Given the description of an element on the screen output the (x, y) to click on. 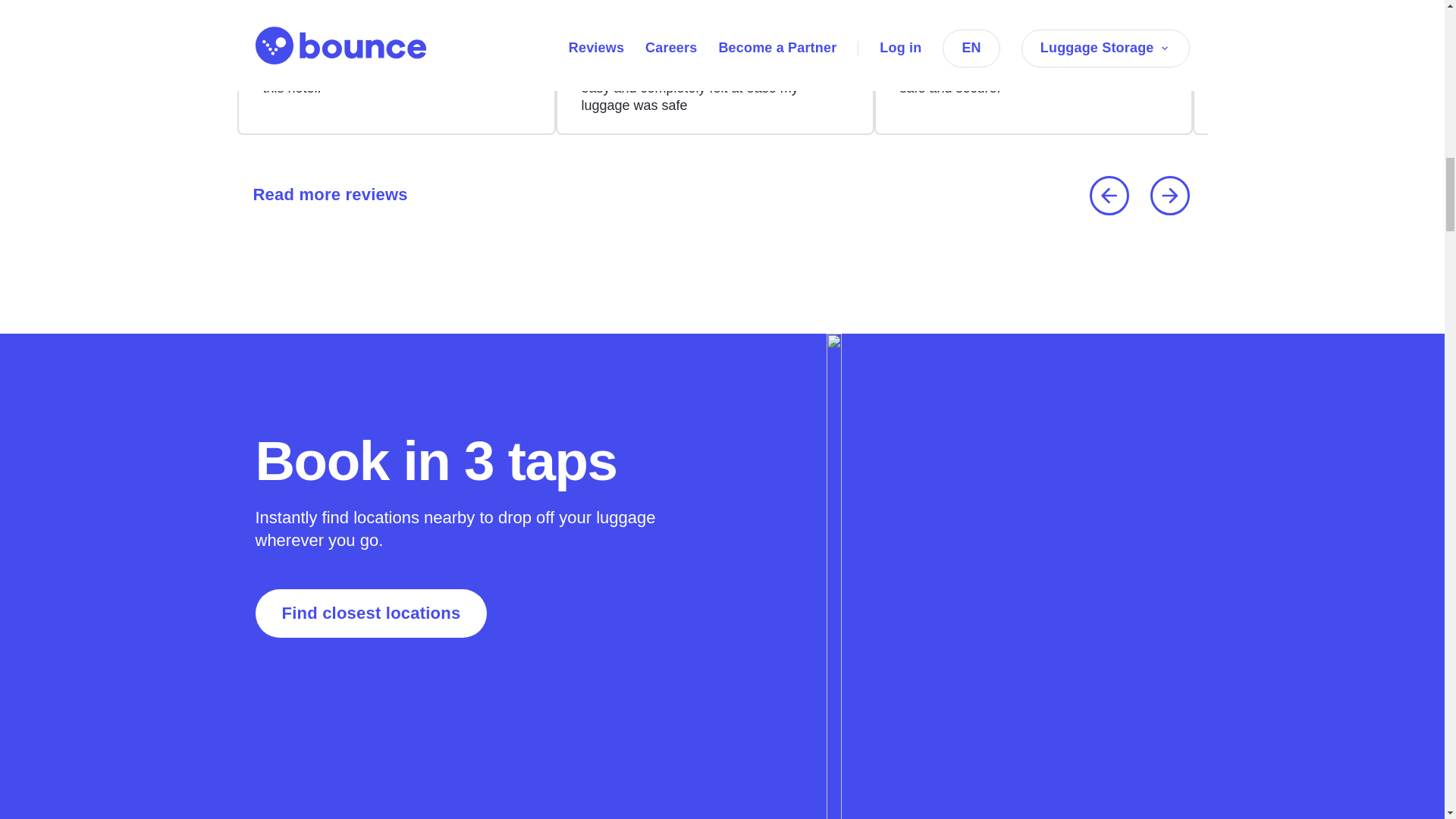
Find closest locations (370, 613)
Read more reviews (324, 195)
